Given the description of an element on the screen output the (x, y) to click on. 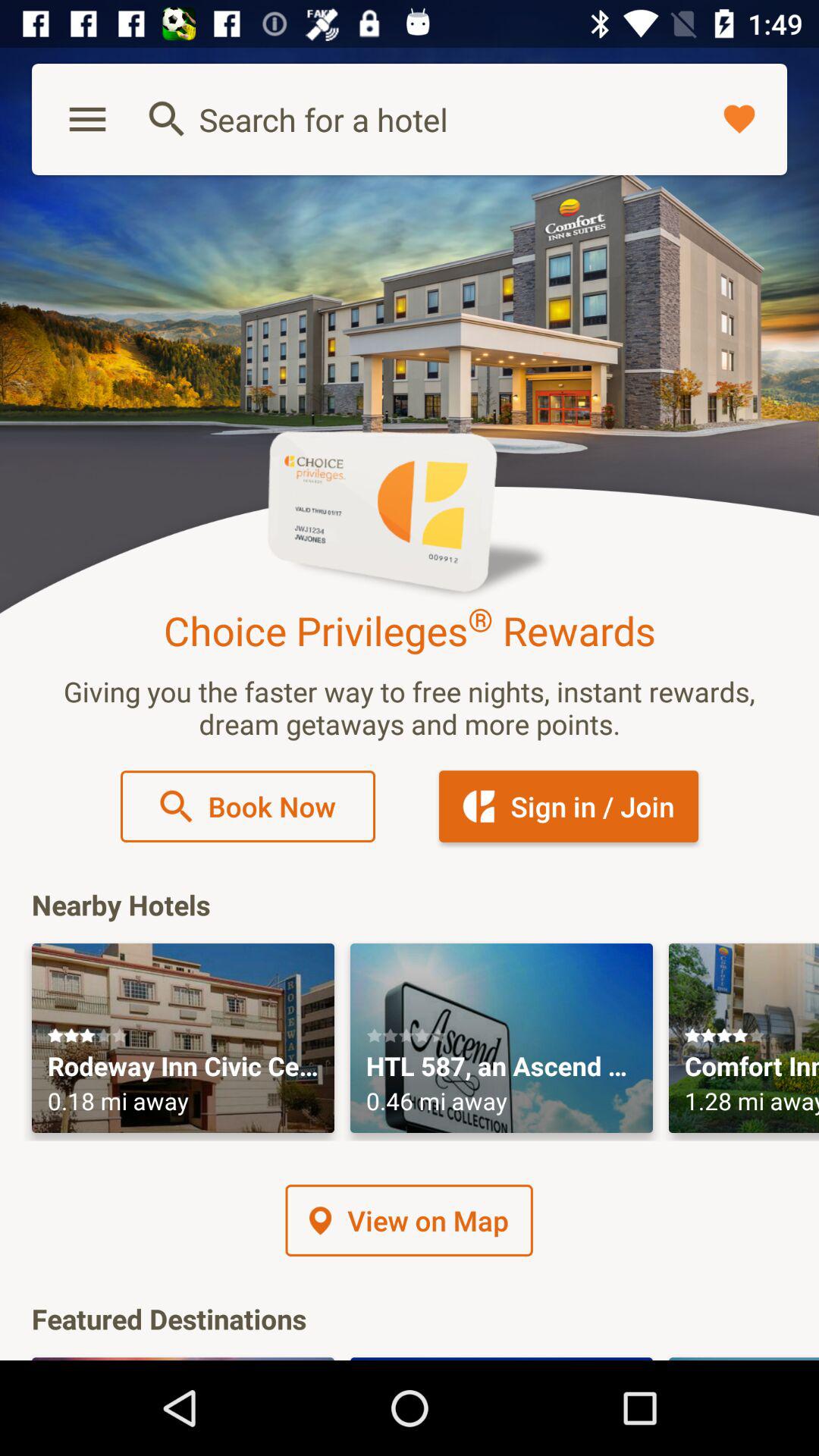
add for hotel ascend (501, 1037)
